Given the description of an element on the screen output the (x, y) to click on. 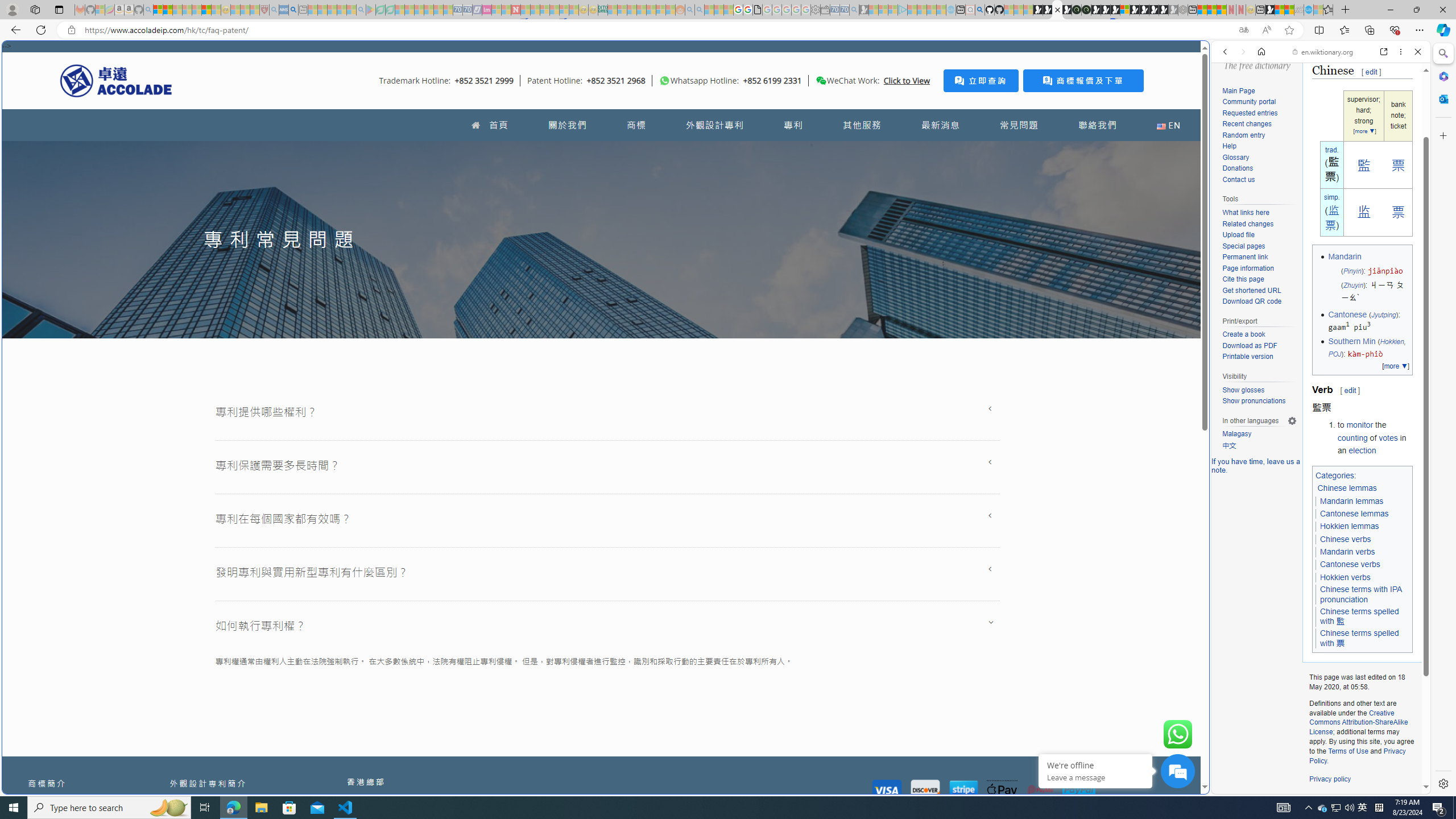
Special pages (1243, 245)
Play Cave FRVR in your browser | Games from Microsoft Start (1105, 9)
Privacy policy (1329, 779)
trad. (1331, 149)
Upload file (1238, 234)
Navy Quest (1299, 9)
google_privacy_policy_zh-CN.pdf (757, 9)
Cantonese (Jyutping): gaam1 piu3 (1368, 320)
